Given the description of an element on the screen output the (x, y) to click on. 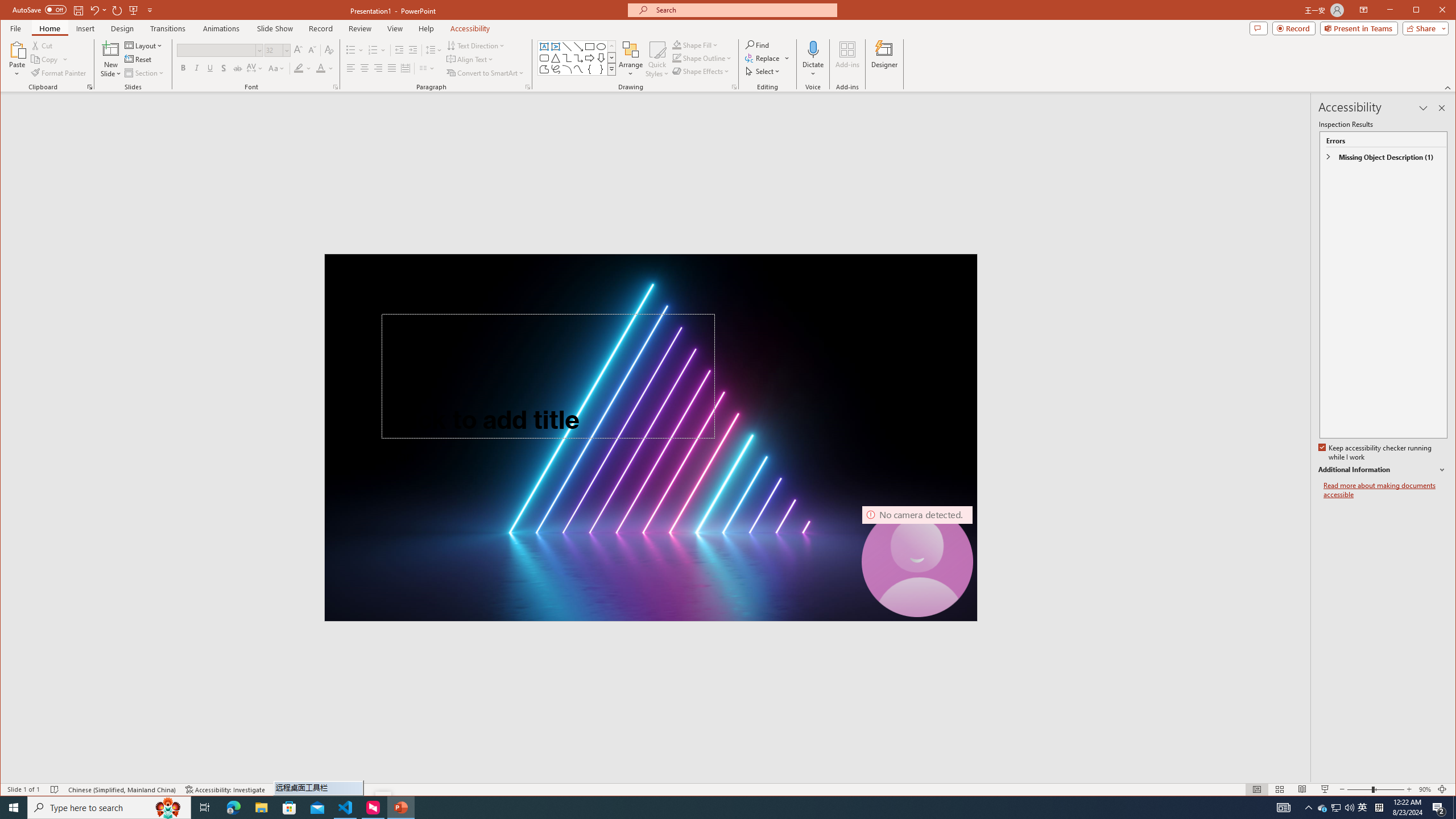
Clear Formatting (328, 49)
Underline (209, 68)
Arrow: Down (601, 57)
Center (364, 68)
Shadow (224, 68)
AutomationID: ShapesInsertGallery (577, 57)
Columns (426, 68)
Vertical Text Box (556, 46)
